Given the description of an element on the screen output the (x, y) to click on. 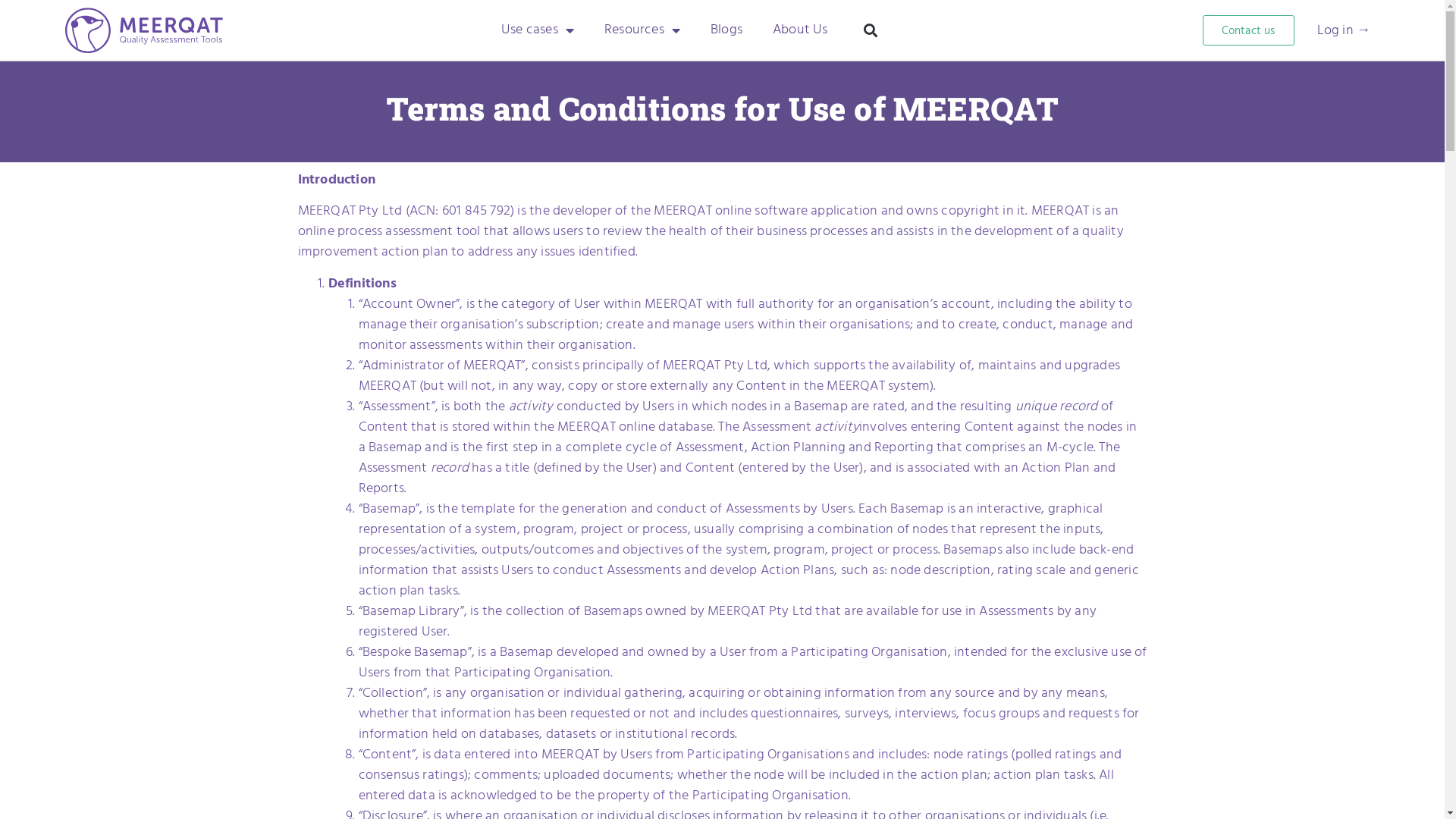
Use cases Element type: text (537, 29)
Blogs Element type: text (726, 29)
Contact us Element type: text (1248, 30)
About Us Element type: text (800, 29)
Resources Element type: text (642, 29)
